Given the description of an element on the screen output the (x, y) to click on. 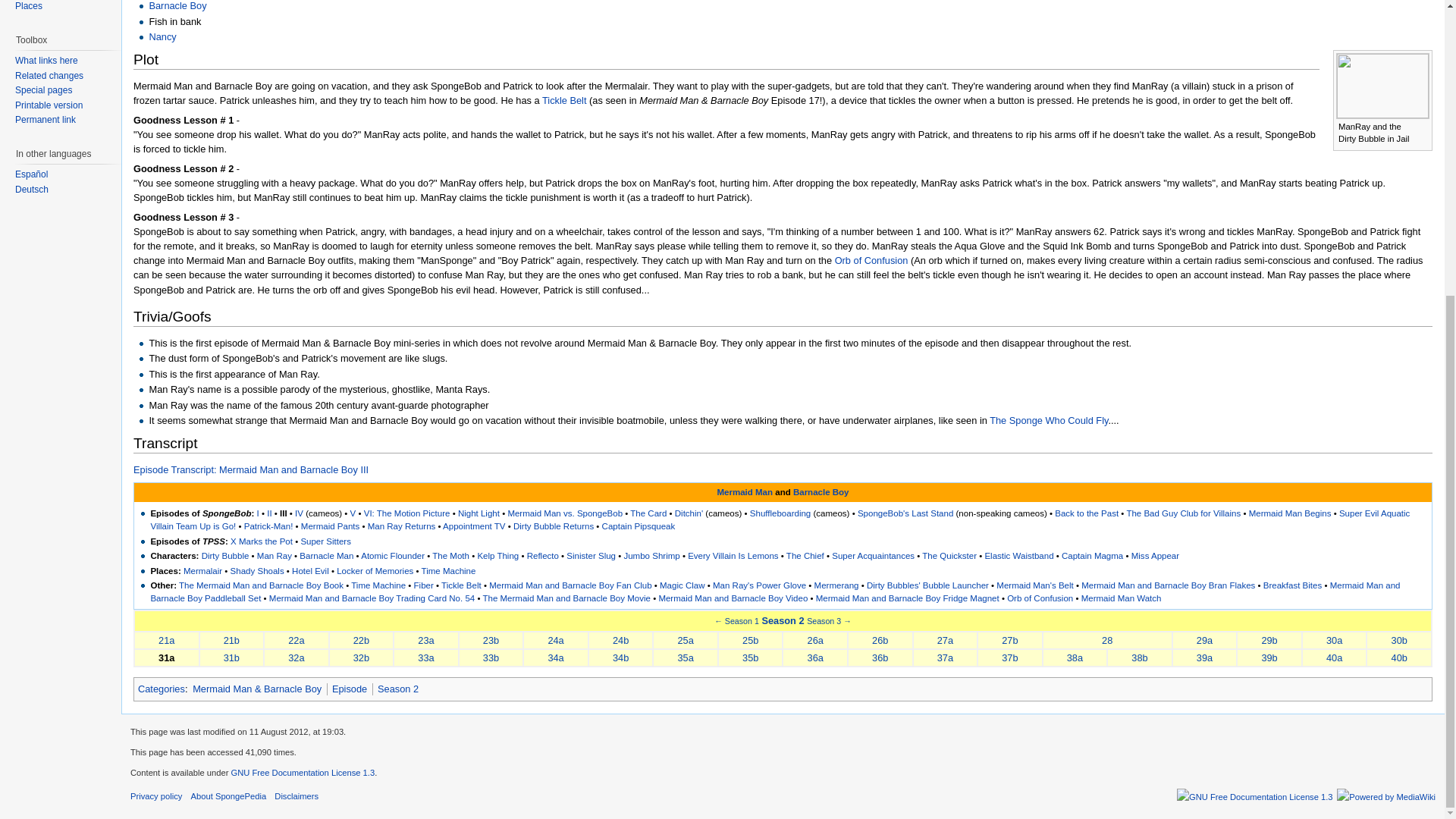
Orb of Confusion (871, 260)
Barnacle Boy (177, 5)
Barnacle Boy (820, 491)
The Sponge Who Could Fly (1049, 419)
Mermaid Man vs. SpongeBob (564, 512)
Mermaid Man (744, 491)
Enlarge (1420, 125)
VI: The Motion Picture (406, 512)
Episode Transcript: Mermaid Man and Barnacle Boy III (250, 469)
Night Light (478, 512)
